Given the description of an element on the screen output the (x, y) to click on. 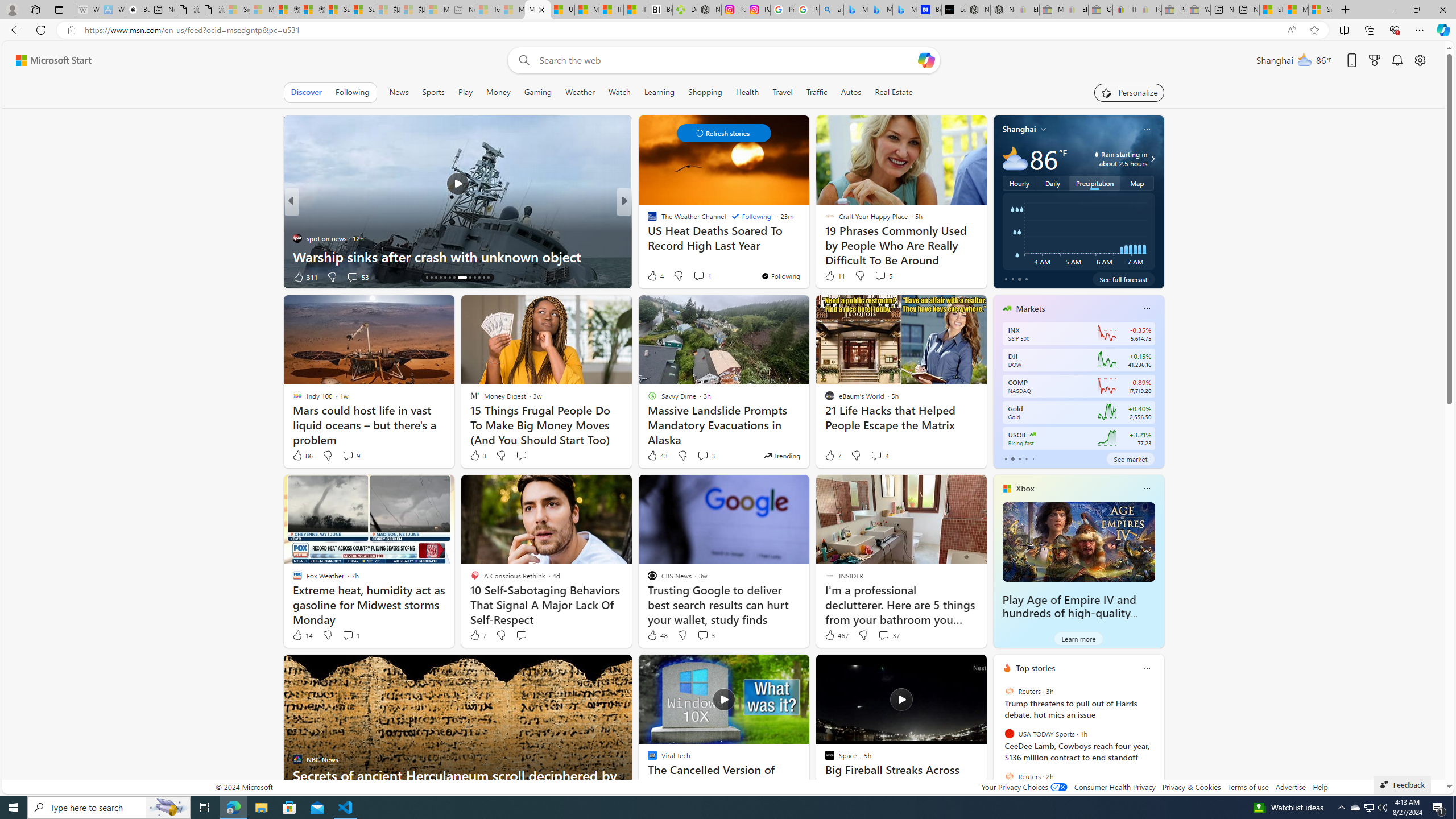
38 Like (652, 276)
Precipitation (1094, 183)
48 Like (657, 634)
4 Like (655, 275)
tab-3 (1025, 458)
Top Stories - MSN - Sleeping (487, 9)
View comments 339 Comment (6, 276)
